Given the description of an element on the screen output the (x, y) to click on. 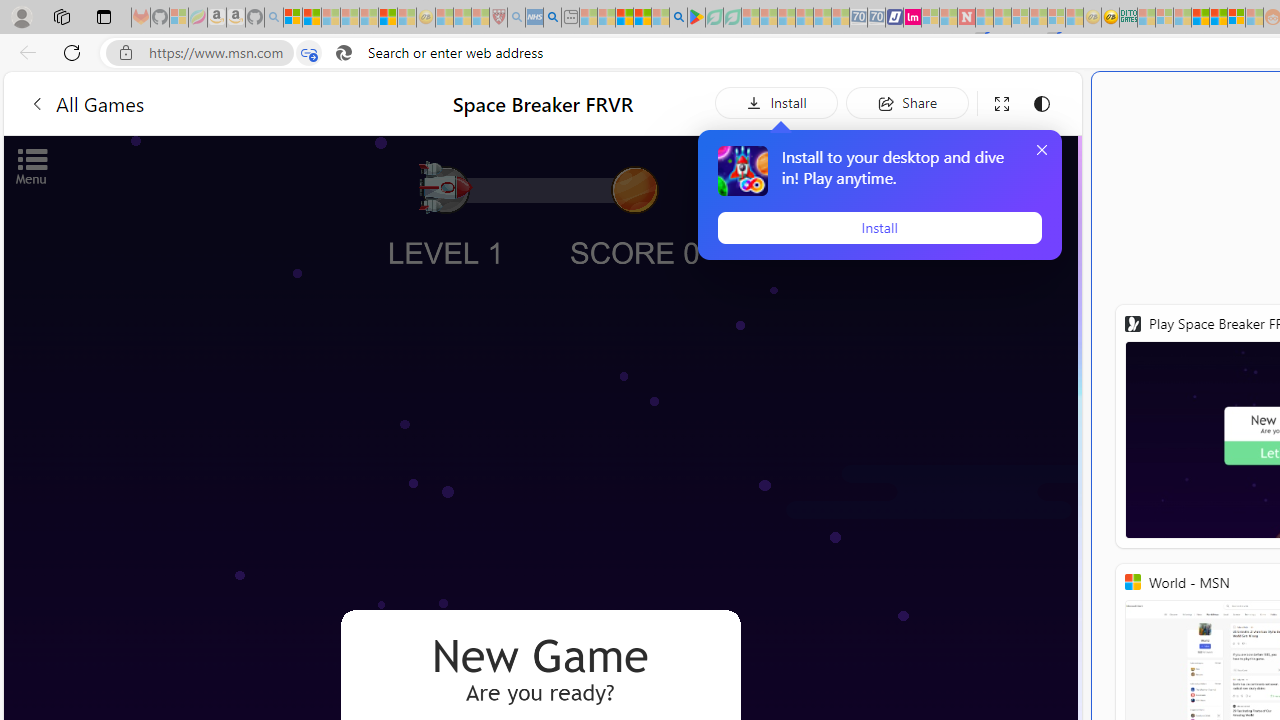
All Games (200, 102)
google - Search (678, 17)
Full screen (1002, 103)
